Given the description of an element on the screen output the (x, y) to click on. 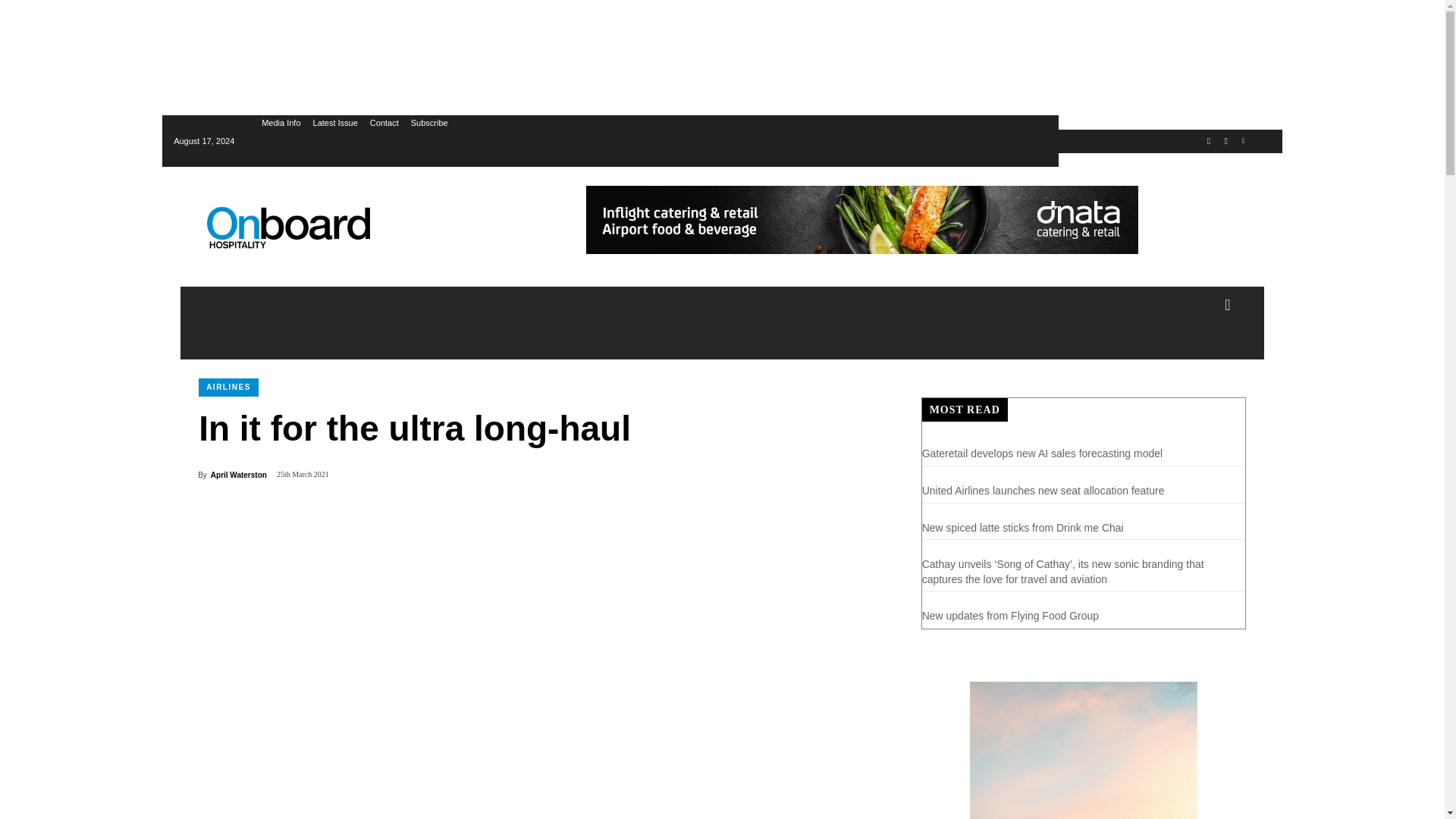
Contact (383, 122)
Media Info (280, 122)
Latest Issue (335, 122)
Subscribe (429, 122)
Twitter (1208, 140)
Linkedin (1243, 140)
Instagram (1225, 140)
